Given the description of an element on the screen output the (x, y) to click on. 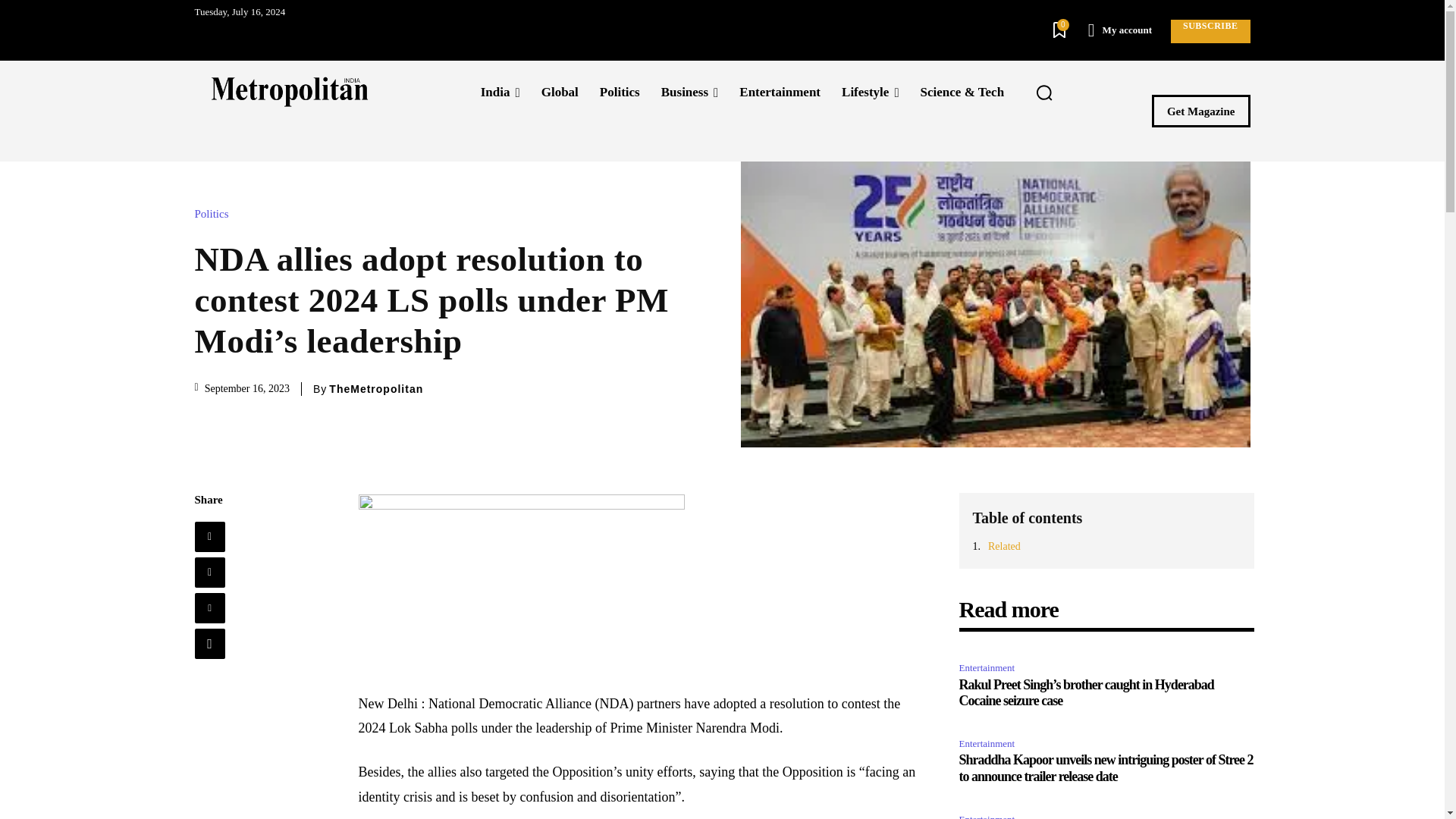
Subscribe (1210, 31)
